Given the description of an element on the screen output the (x, y) to click on. 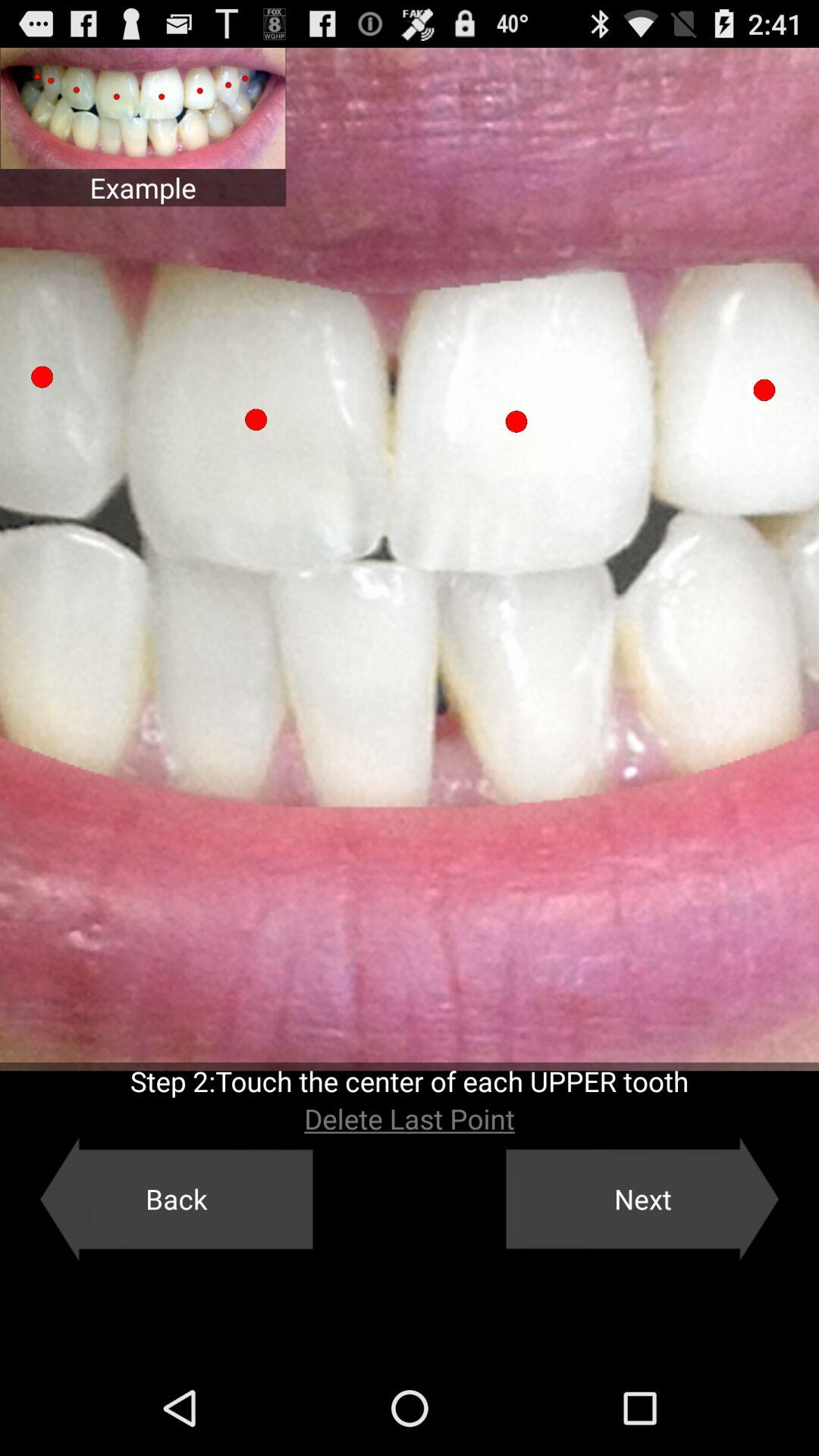
press icon below the delete last point (175, 1198)
